Given the description of an element on the screen output the (x, y) to click on. 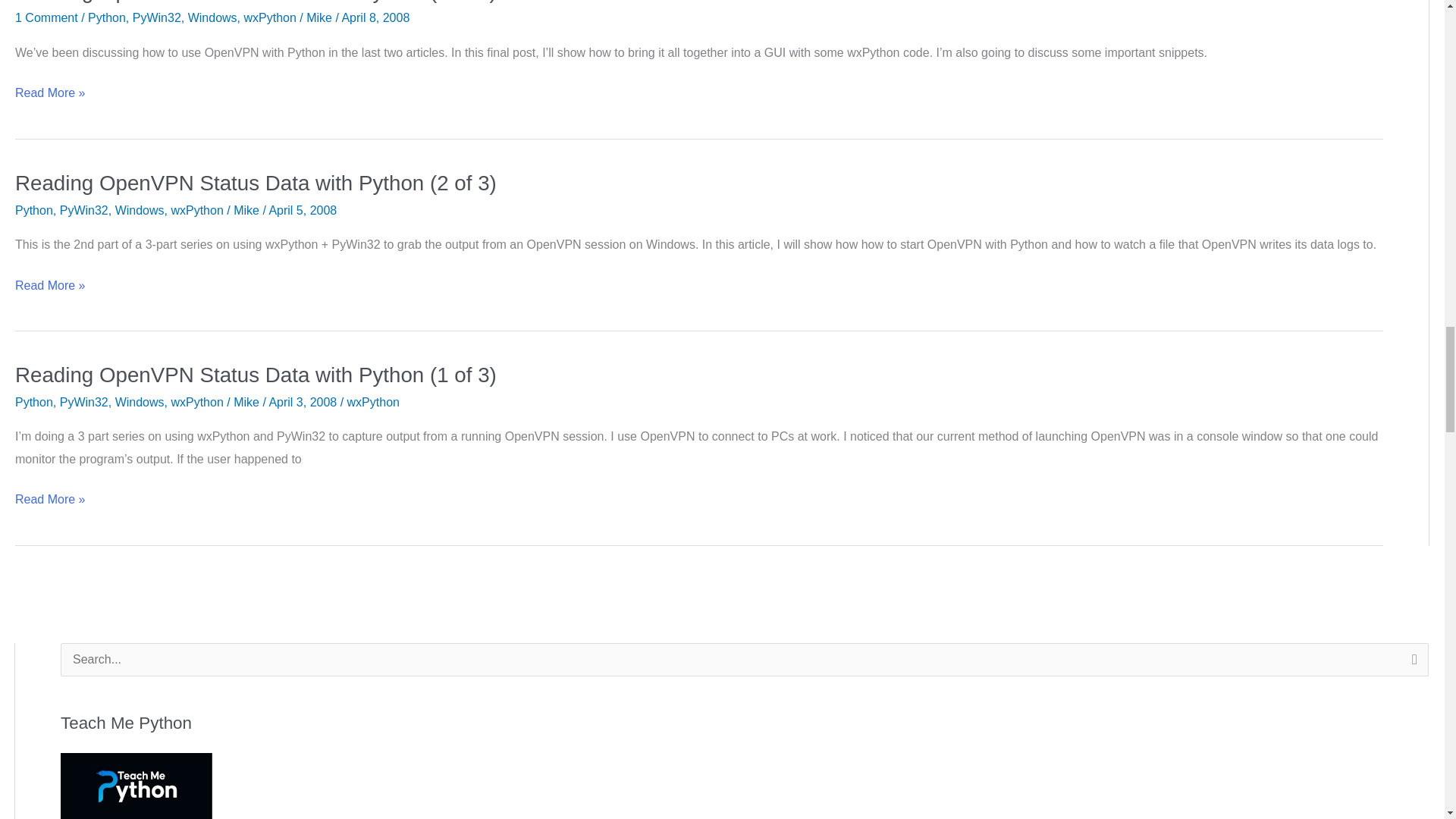
View all posts by Mike (247, 210)
View all posts by Mike (247, 401)
View all posts by Mike (319, 17)
